Given the description of an element on the screen output the (x, y) to click on. 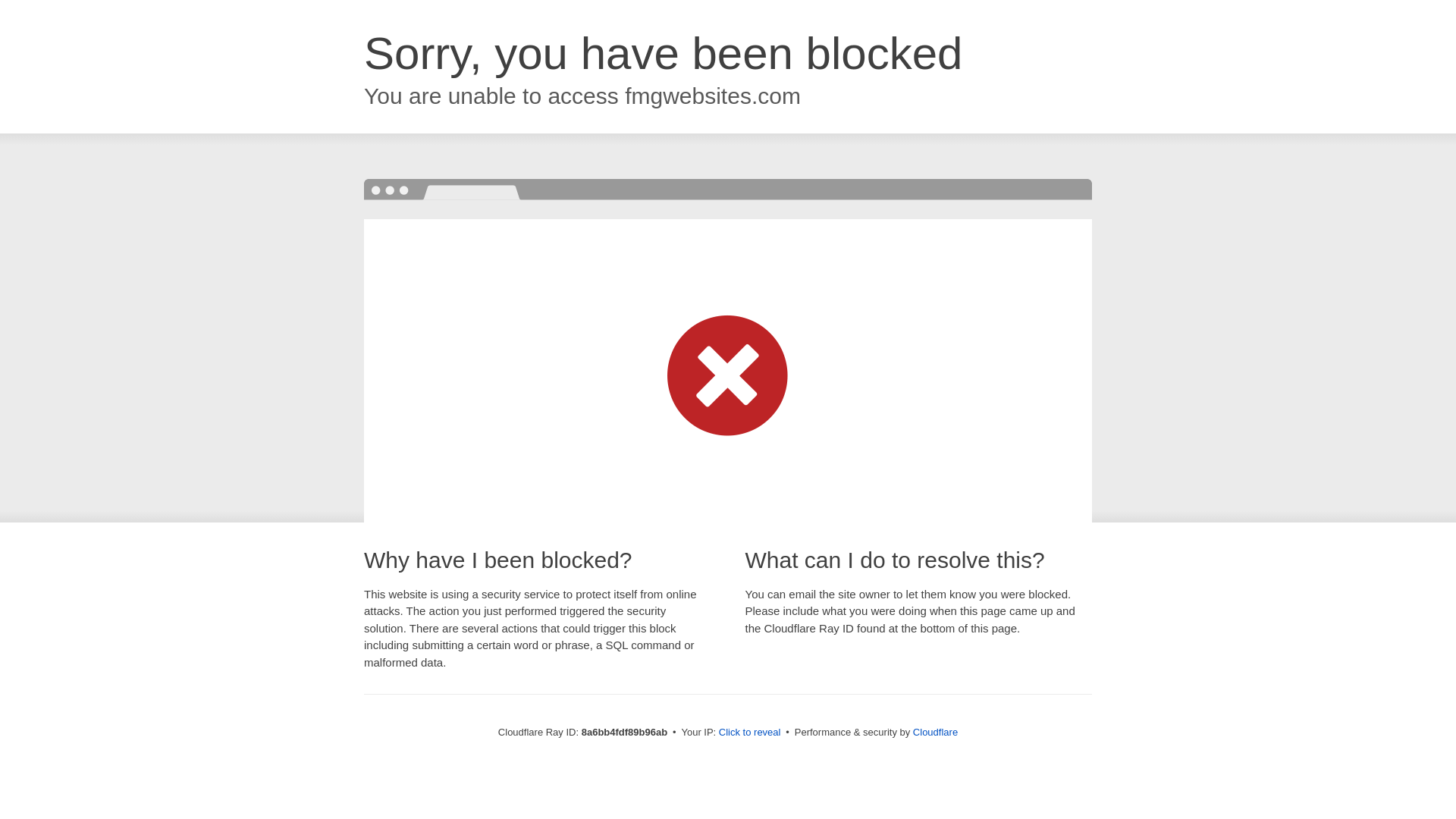
Click to reveal (749, 732)
Cloudflare (935, 731)
